Given the description of an element on the screen output the (x, y) to click on. 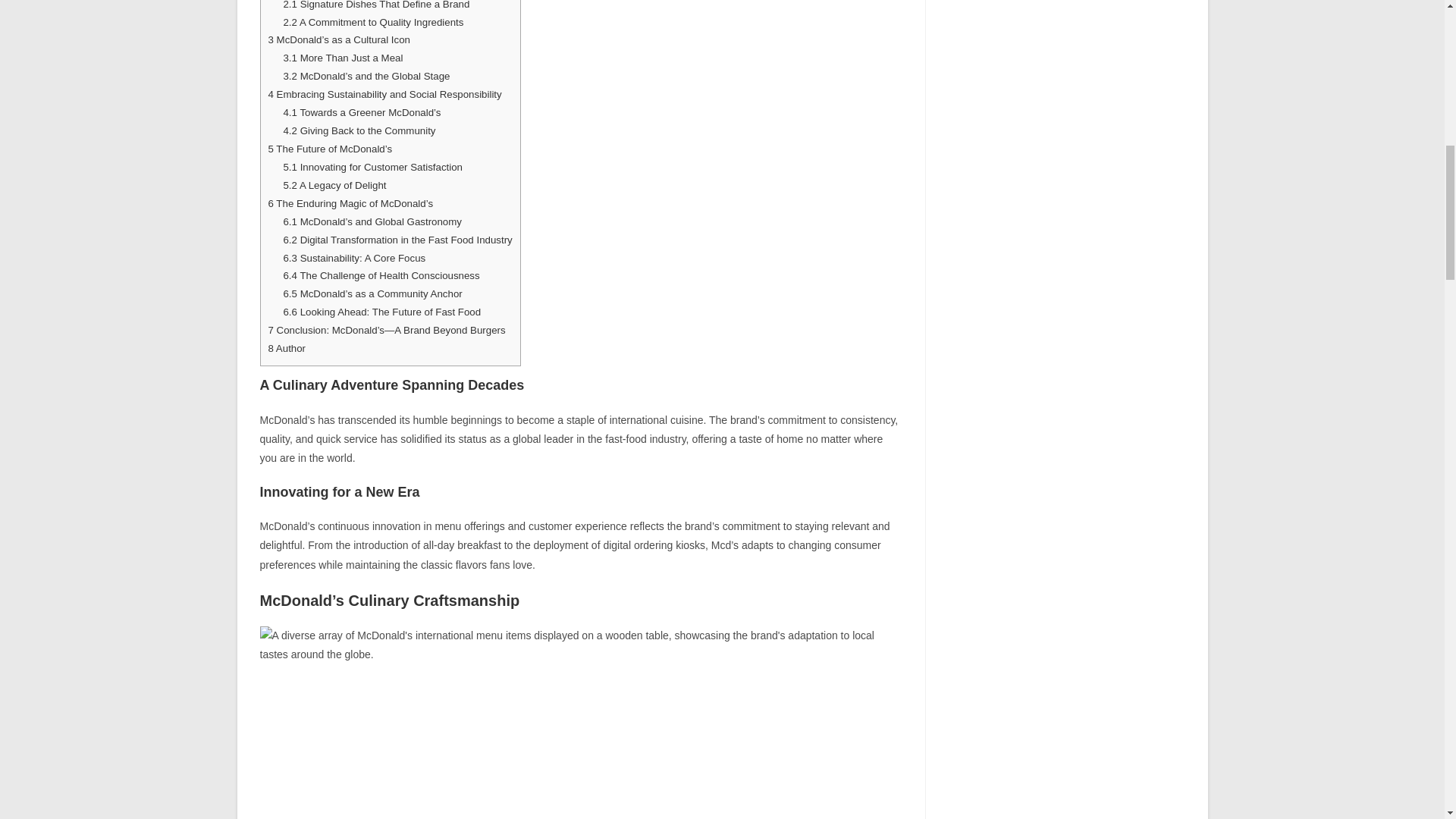
2.1 Signature Dishes That Define a Brand (375, 4)
6.3 Sustainability: A Core Focus (353, 257)
6.2 Digital Transformation in the Fast Food Industry (397, 239)
3.1 More Than Just a Meal (342, 57)
2.2 A Commitment to Quality Ingredients (372, 21)
5.2 A Legacy of Delight (333, 184)
4.2 Giving Back to the Community (358, 130)
6.4 The Challenge of Health Consciousness (380, 275)
5.1 Innovating for Customer Satisfaction (372, 166)
6.6 Looking Ahead: The Future of Fast Food (381, 311)
4 Embracing Sustainability and Social Responsibility (384, 93)
